Given the description of an element on the screen output the (x, y) to click on. 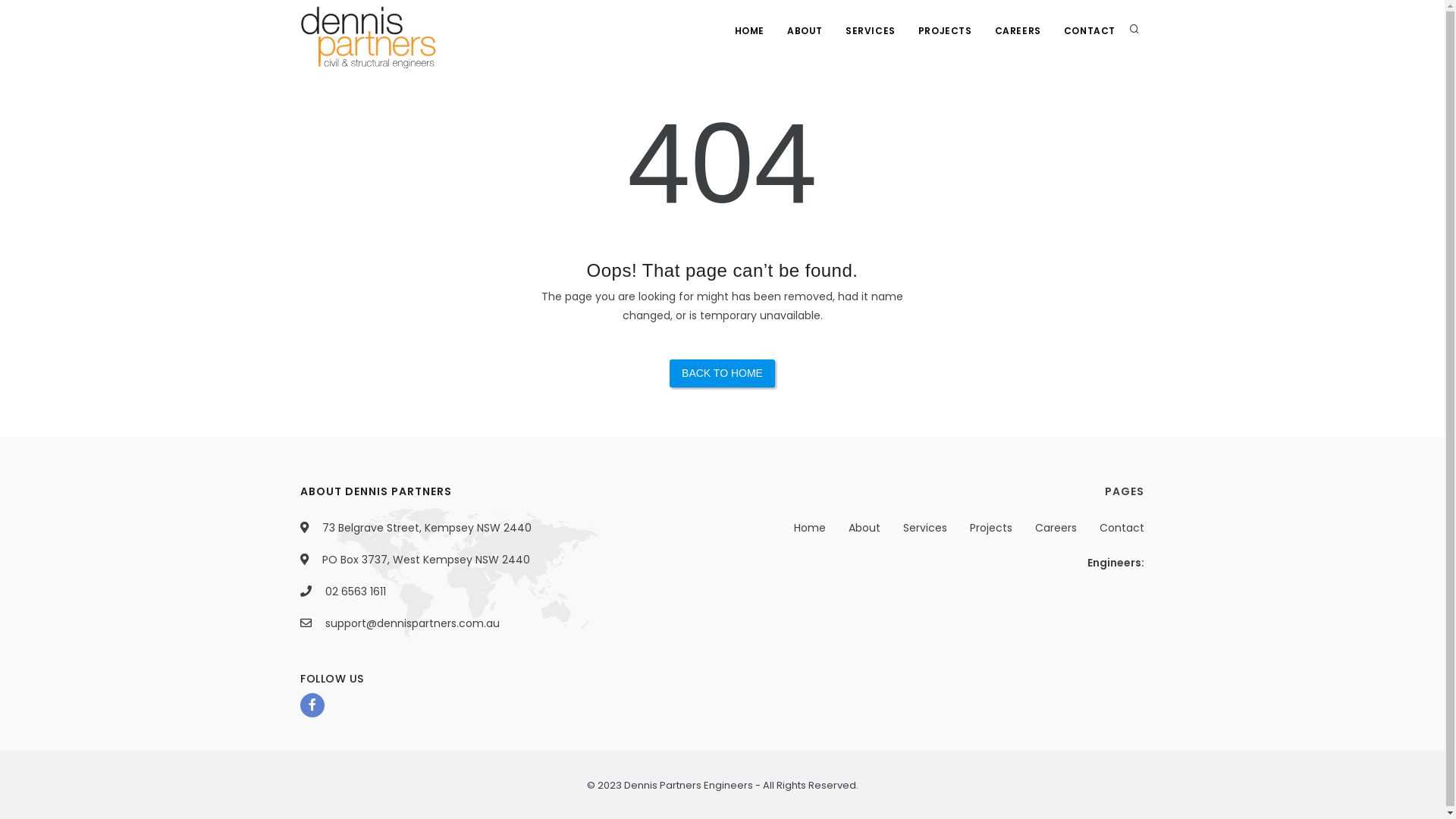
SERVICES Element type: text (870, 30)
ABOUT Element type: text (804, 30)
HOME Element type: text (749, 30)
support@dennispartners.com.au Element type: text (412, 622)
BACK TO HOME Element type: text (722, 373)
Home Element type: text (809, 527)
CONTACT Element type: text (1089, 30)
Services Element type: text (925, 527)
Contact Element type: text (1121, 527)
Projects Element type: text (990, 527)
PROJECTS Element type: text (945, 30)
Careers Element type: text (1055, 527)
About Element type: text (864, 527)
CAREERS Element type: text (1017, 30)
